Given the description of an element on the screen output the (x, y) to click on. 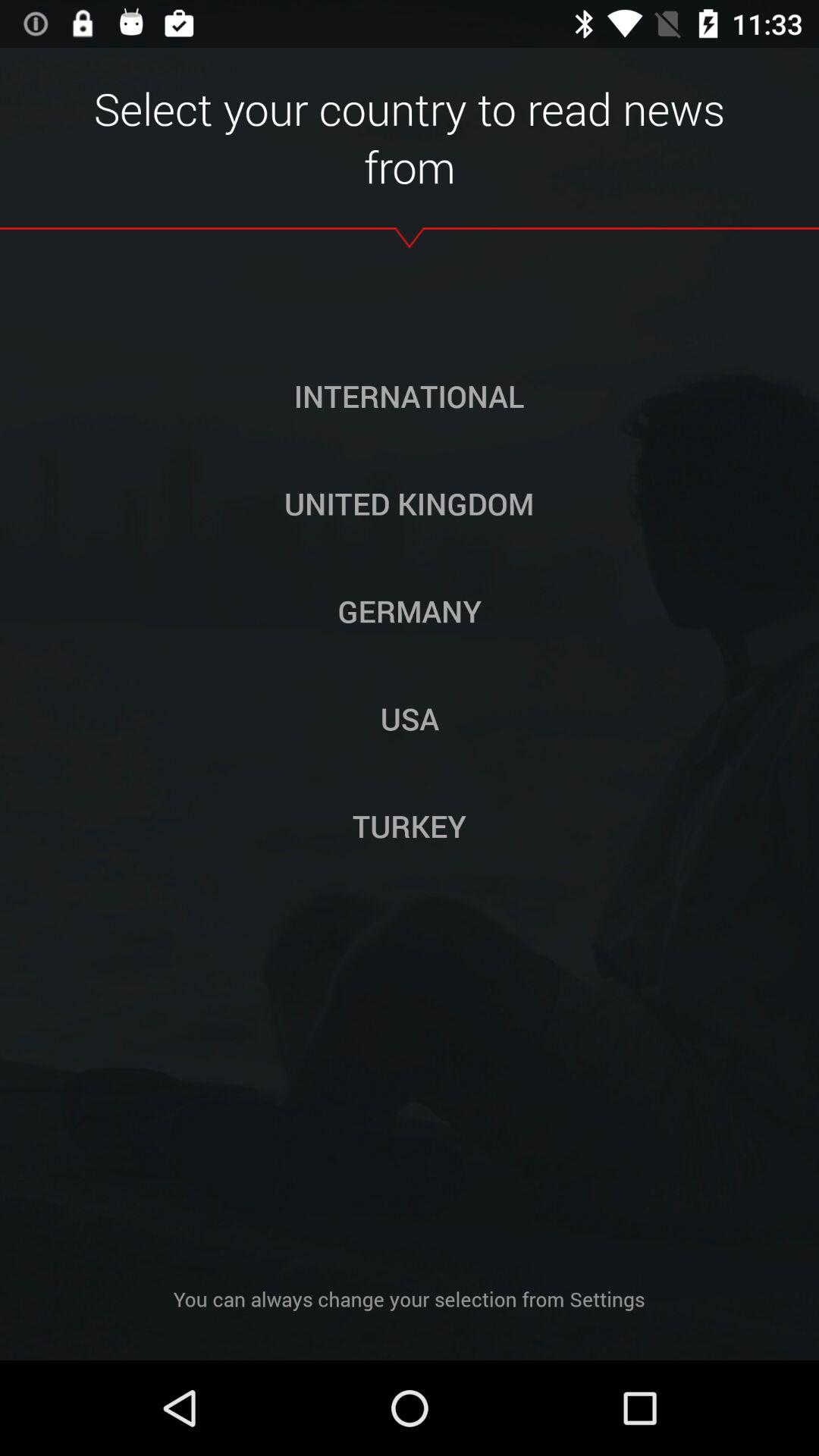
launch usa icon (409, 718)
